Given the description of an element on the screen output the (x, y) to click on. 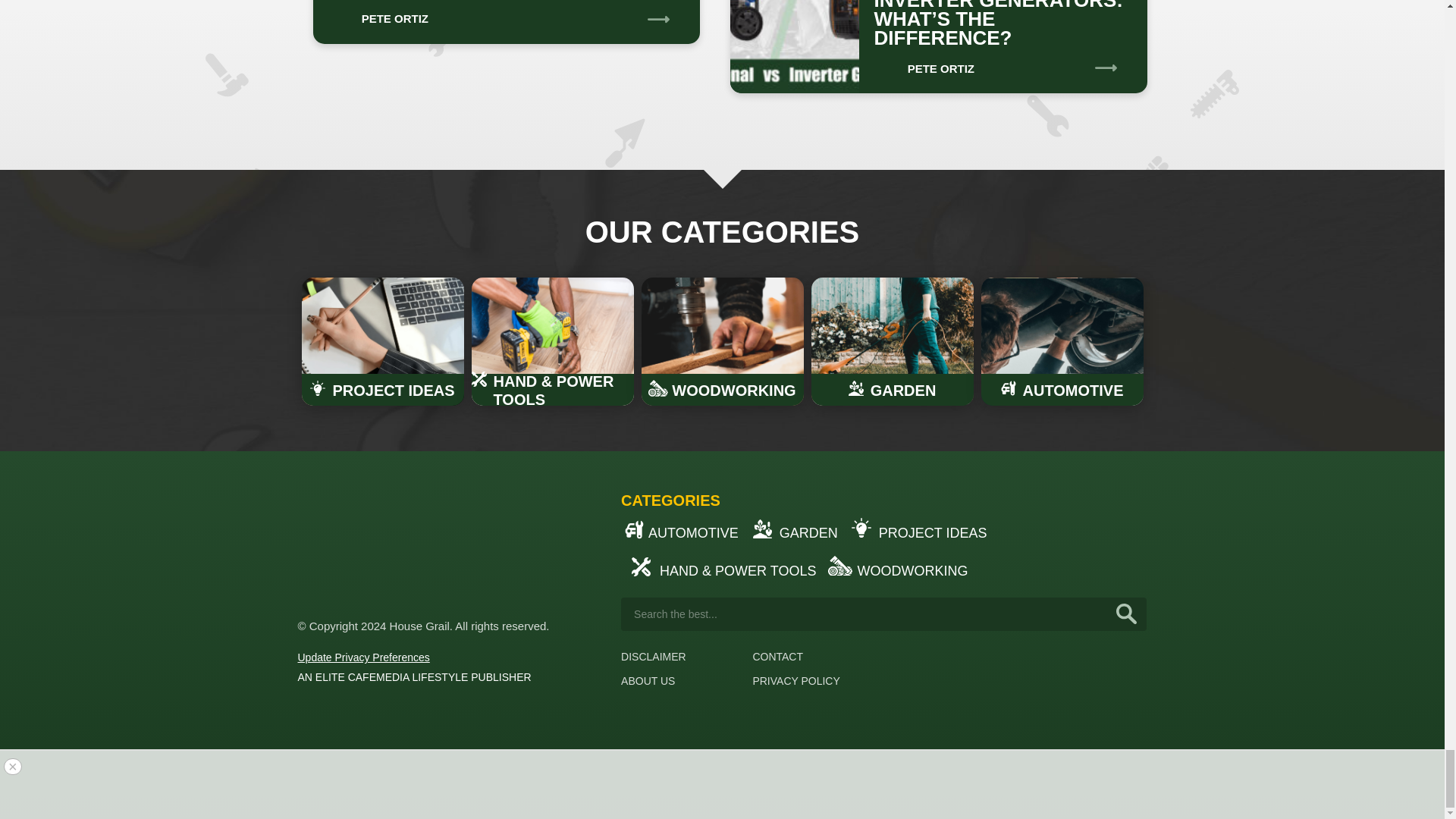
house-grail-logo (353, 545)
PETE ORTIZ (377, 14)
Search (1126, 613)
